Given the description of an element on the screen output the (x, y) to click on. 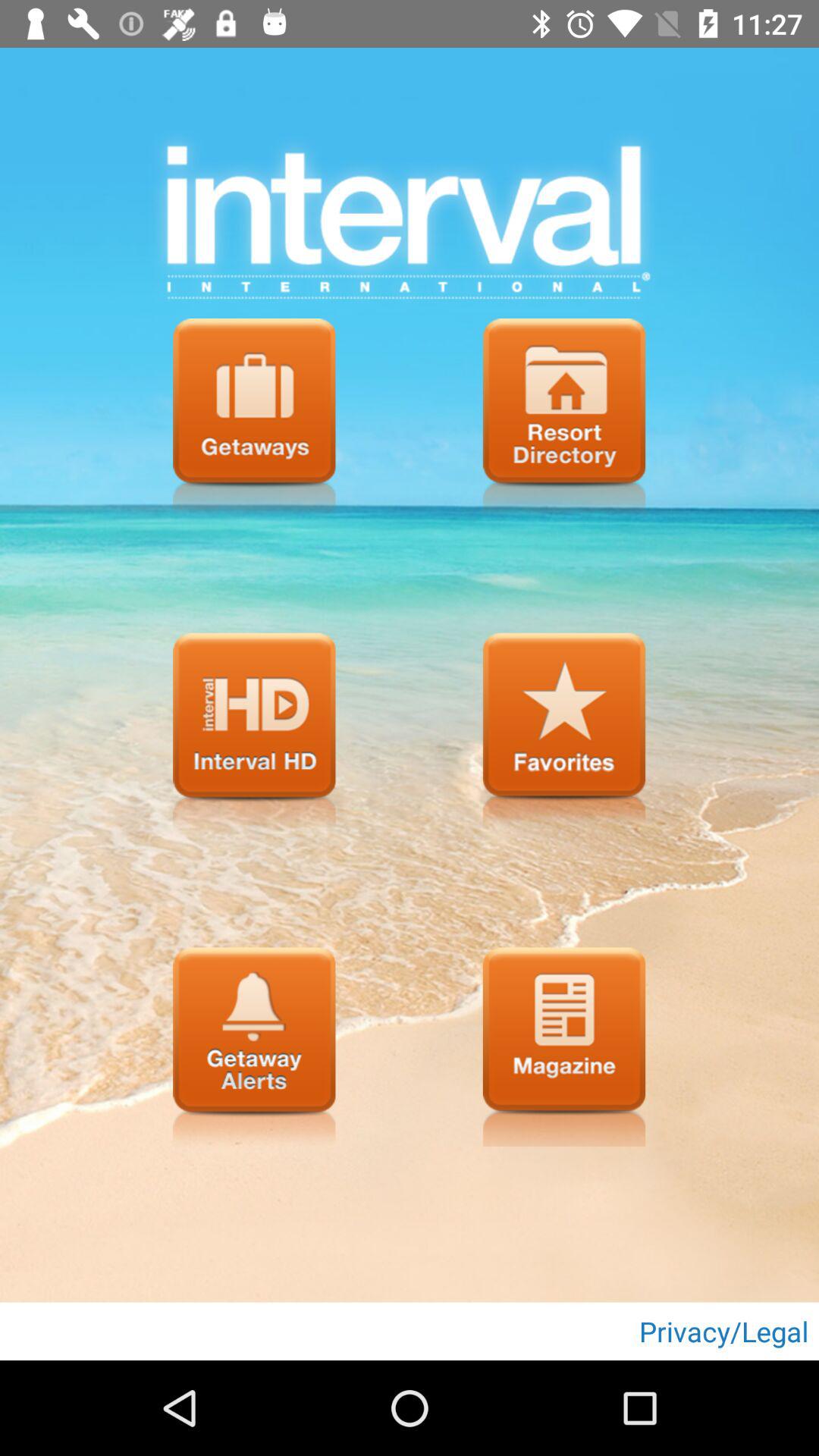
gateways (253, 417)
